Given the description of an element on the screen output the (x, y) to click on. 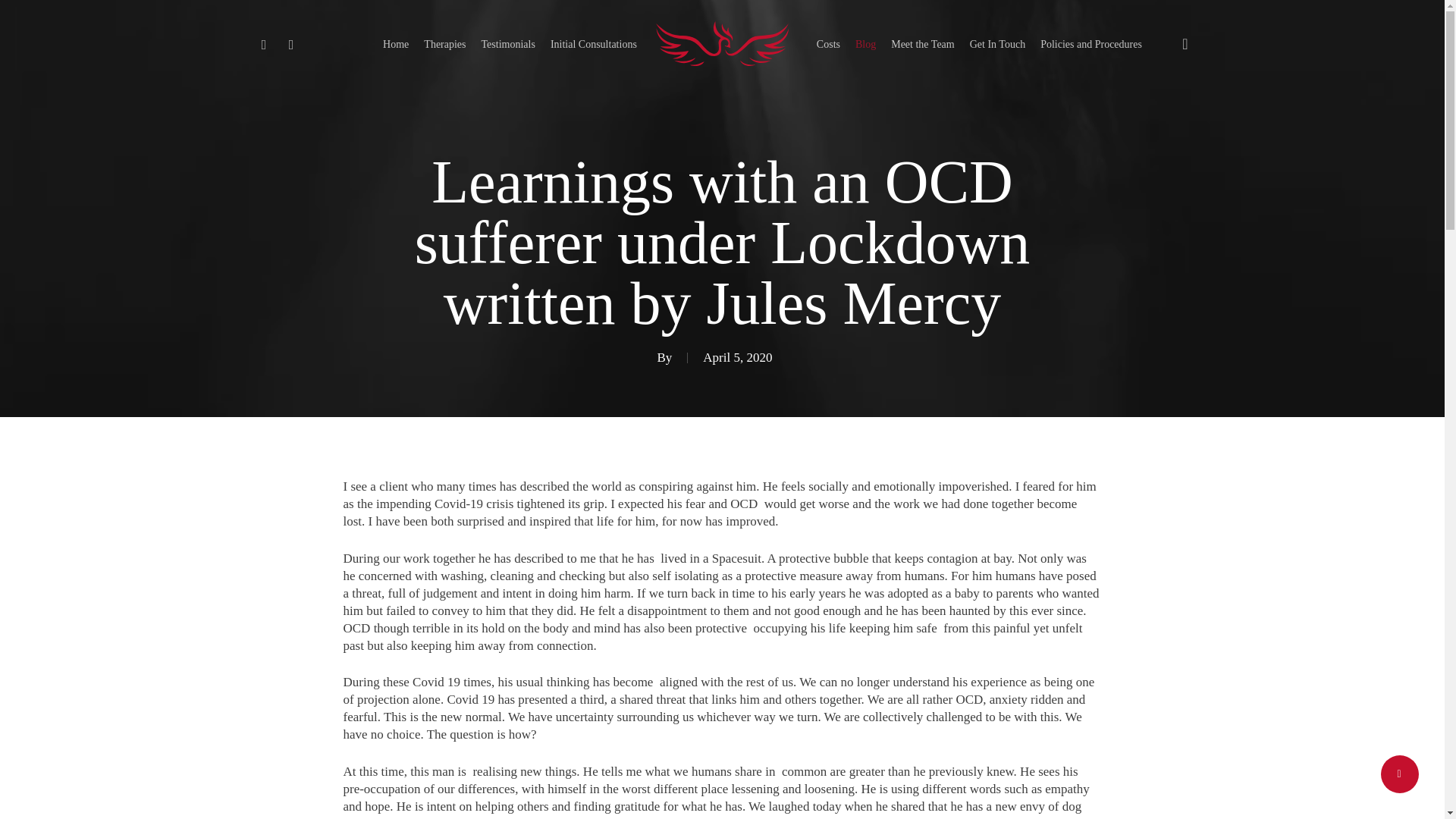
Meet The Team (922, 43)
search (1184, 44)
Costs (828, 43)
Therapies (444, 43)
Costs (828, 43)
Blog (865, 43)
Meet the Team (922, 43)
Initial Consultations (594, 43)
Testimonials (508, 43)
Home (395, 43)
Home (395, 43)
Contact Us (997, 43)
facebook (291, 44)
Policies and Procedures (1091, 43)
Blog (865, 43)
